Given the description of an element on the screen output the (x, y) to click on. 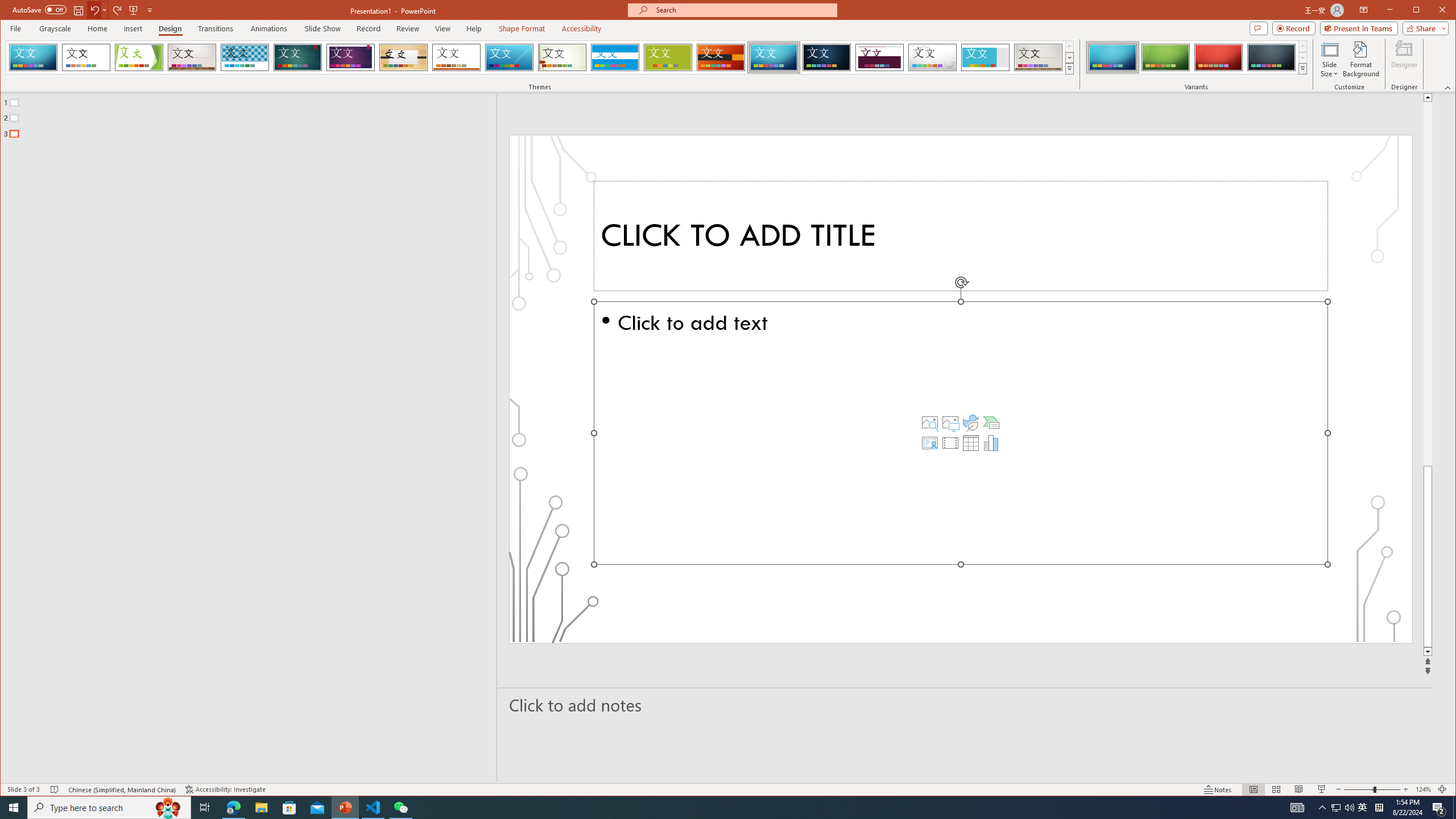
WeChat - 1 running window (400, 807)
Integral (244, 57)
Basis (668, 57)
Retrospect (456, 57)
